Given the description of an element on the screen output the (x, y) to click on. 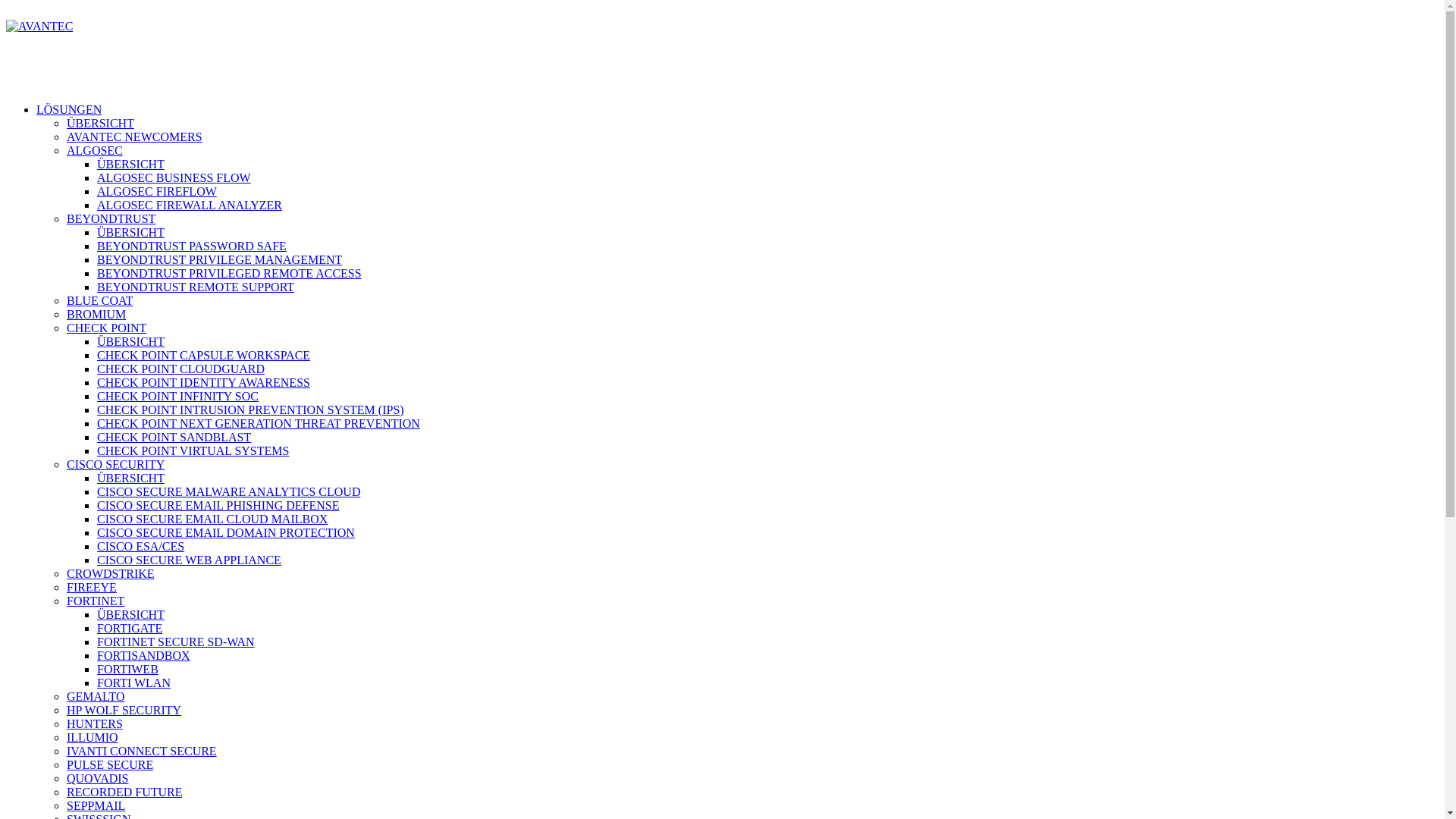
CISCO SECURE EMAIL PHISHING DEFENSE Element type: text (217, 504)
CHECK POINT CAPSULE WORKSPACE Element type: text (203, 354)
CISCO SECURE EMAIL DOMAIN PROTECTION Element type: text (225, 532)
BEYONDTRUST PRIVILEGED REMOTE ACCESS Element type: text (229, 272)
BLUE COAT Element type: text (99, 300)
CROWDSTRIKE Element type: text (110, 573)
PULSE SECURE Element type: text (109, 764)
CHECK POINT VIRTUAL SYSTEMS Element type: text (192, 450)
FORTINET SECURE SD-WAN Element type: text (175, 641)
ALGOSEC Element type: text (94, 150)
CISCO ESA/CES Element type: text (140, 545)
SEPPMAIL Element type: text (95, 805)
CHECK POINT Element type: text (106, 327)
FORTINET Element type: text (95, 600)
CISCO SECURE MALWARE ANALYTICS CLOUD Element type: text (228, 491)
AVANTEC NEWCOMERS Element type: text (134, 136)
BROMIUM Element type: text (95, 313)
ILLUMIO Element type: text (92, 737)
HUNTERS Element type: text (94, 723)
GEMALTO Element type: text (95, 696)
CHECK POINT INFINITY SOC Element type: text (177, 395)
RECORDED FUTURE Element type: text (124, 791)
HP WOLF SECURITY Element type: text (123, 709)
CHECK POINT CLOUDGUARD Element type: text (180, 368)
CISCO SECURITY Element type: text (115, 464)
BEYONDTRUST PRIVILEGE MANAGEMENT Element type: text (219, 259)
BEYONDTRUST REMOTE SUPPORT Element type: text (195, 286)
CHECK POINT NEXT GENERATION THREAT PREVENTION Element type: text (258, 423)
CHECK POINT SANDBLAST Element type: text (174, 436)
FORTI WLAN Element type: text (133, 682)
ALGOSEC FIREWALL ANALYZER Element type: text (189, 204)
FORTIWEB Element type: text (127, 668)
CISCO SECURE EMAIL CLOUD MAILBOX Element type: text (212, 518)
ALGOSEC BUSINESS FLOW Element type: text (174, 177)
FORTIGATE Element type: text (129, 627)
QUOVADIS Element type: text (97, 777)
CISCO SECURE WEB APPLIANCE Element type: text (189, 559)
CHECK POINT IDENTITY AWARENESS Element type: text (203, 382)
CHECK POINT INTRUSION PREVENTION SYSTEM (IPS) Element type: text (250, 409)
FIREEYE Element type: text (91, 586)
ALGOSEC FIREFLOW Element type: text (156, 191)
BEYONDTRUST PASSWORD SAFE Element type: text (191, 245)
FORTISANDBOX Element type: text (143, 655)
BEYONDTRUST Element type: text (110, 218)
IVANTI CONNECT SECURE Element type: text (141, 750)
